Given the description of an element on the screen output the (x, y) to click on. 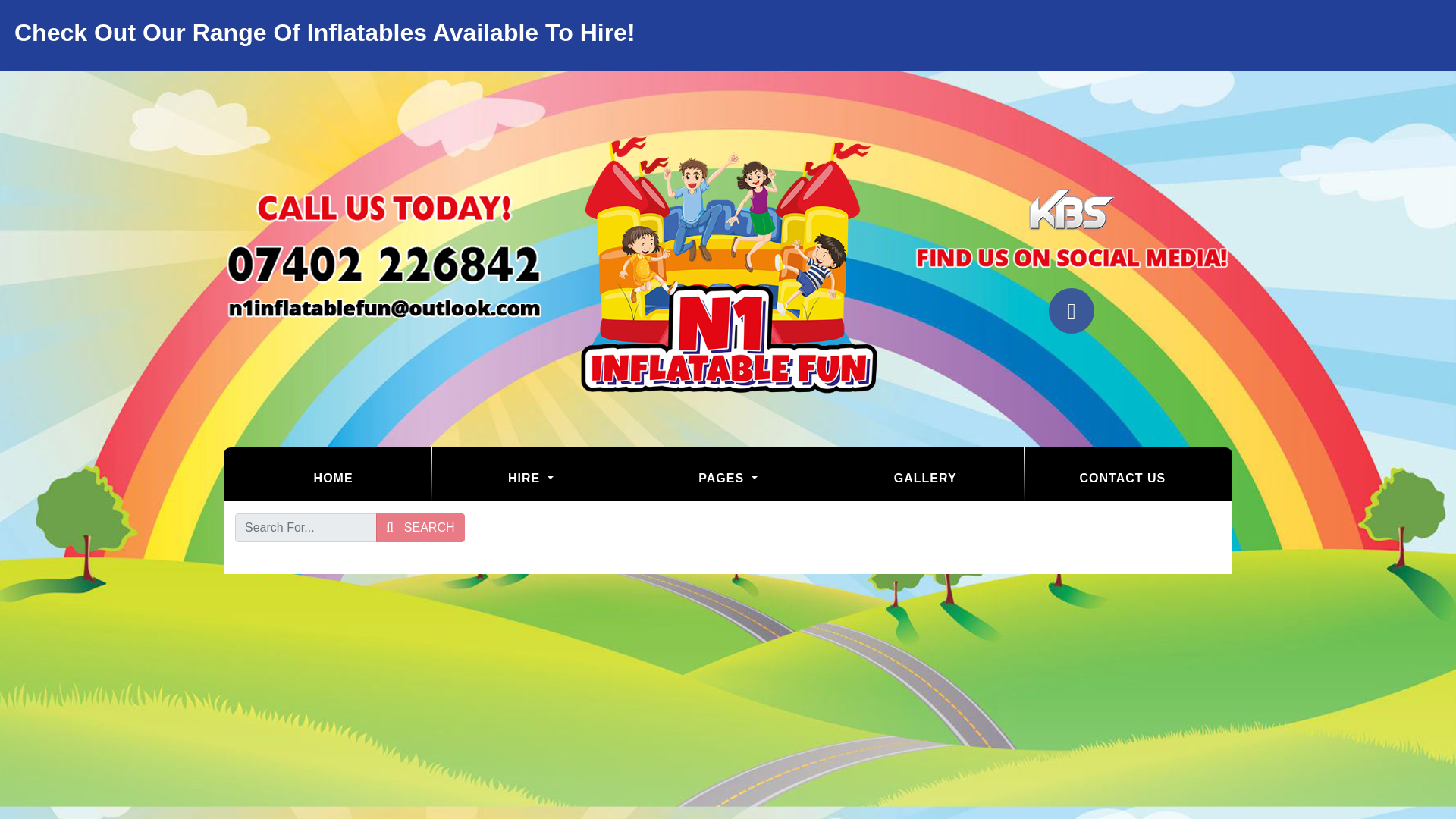
Call us today! (384, 265)
CONTACT US (1123, 478)
PAGES (726, 478)
Email us today! (384, 309)
GALLERY (925, 478)
N1 Inflatable Fun (727, 258)
SEARCH (419, 527)
HIRE (530, 478)
